Given the description of an element on the screen output the (x, y) to click on. 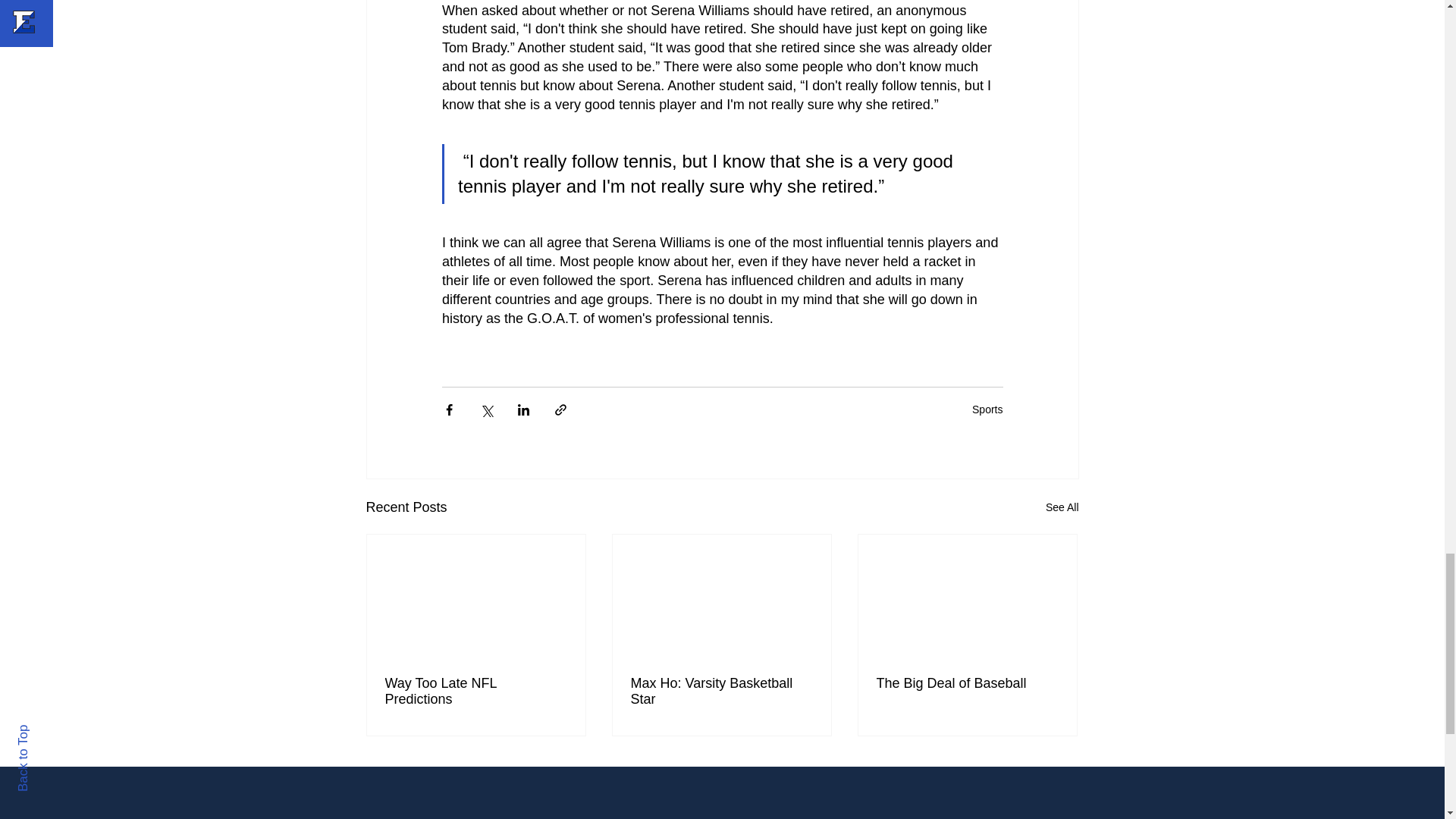
Way Too Late NFL Predictions (476, 691)
See All (1061, 507)
Max Ho: Varsity Basketball Star (721, 691)
Sports (987, 409)
The Big Deal of Baseball (967, 683)
